Given the description of an element on the screen output the (x, y) to click on. 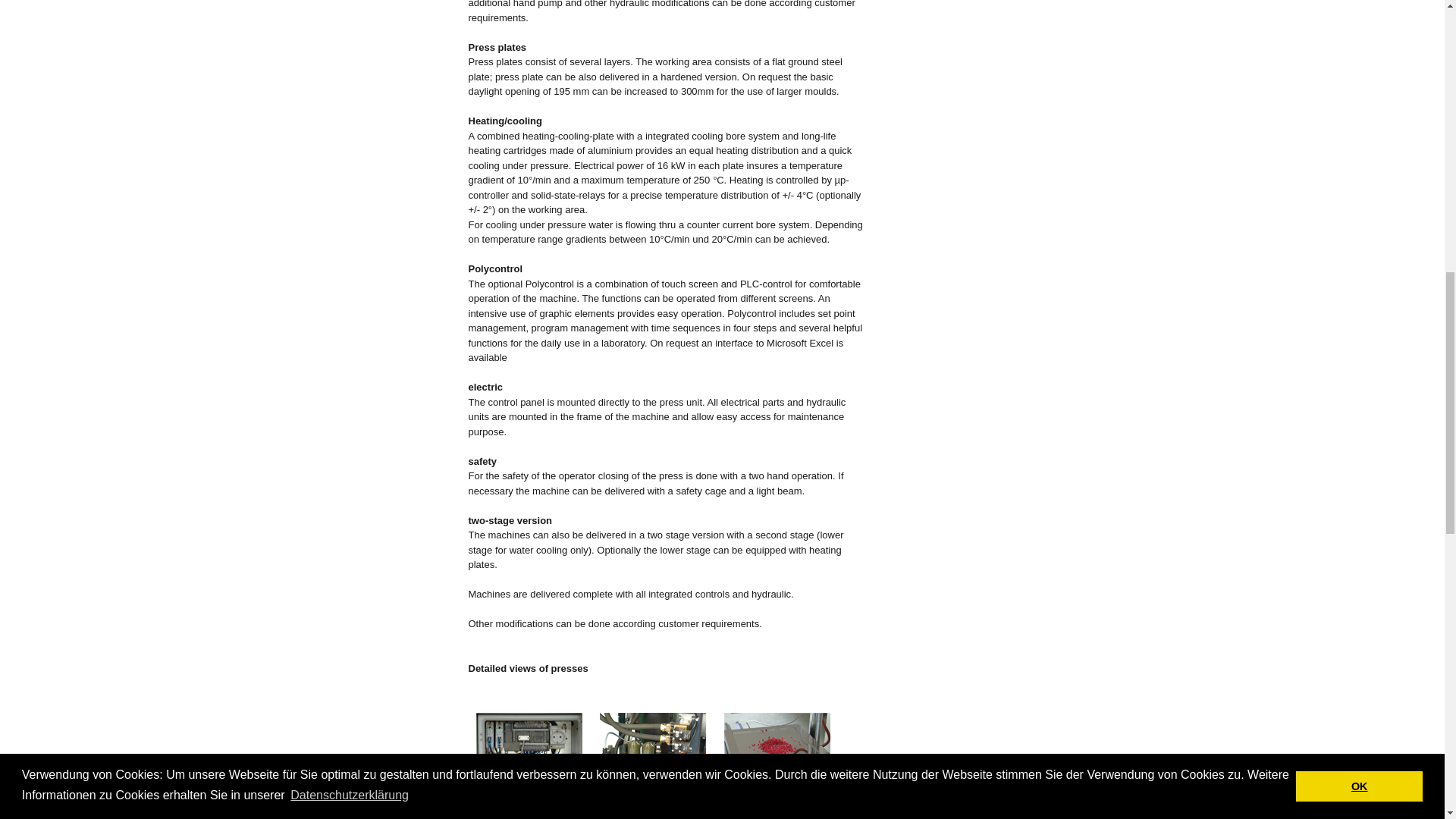
Hydraulic units (652, 750)
Electrical parts are clearly installed. (529, 750)
Hydraulic units are installed in the frame with easy access. (652, 749)
